Given the description of an element on the screen output the (x, y) to click on. 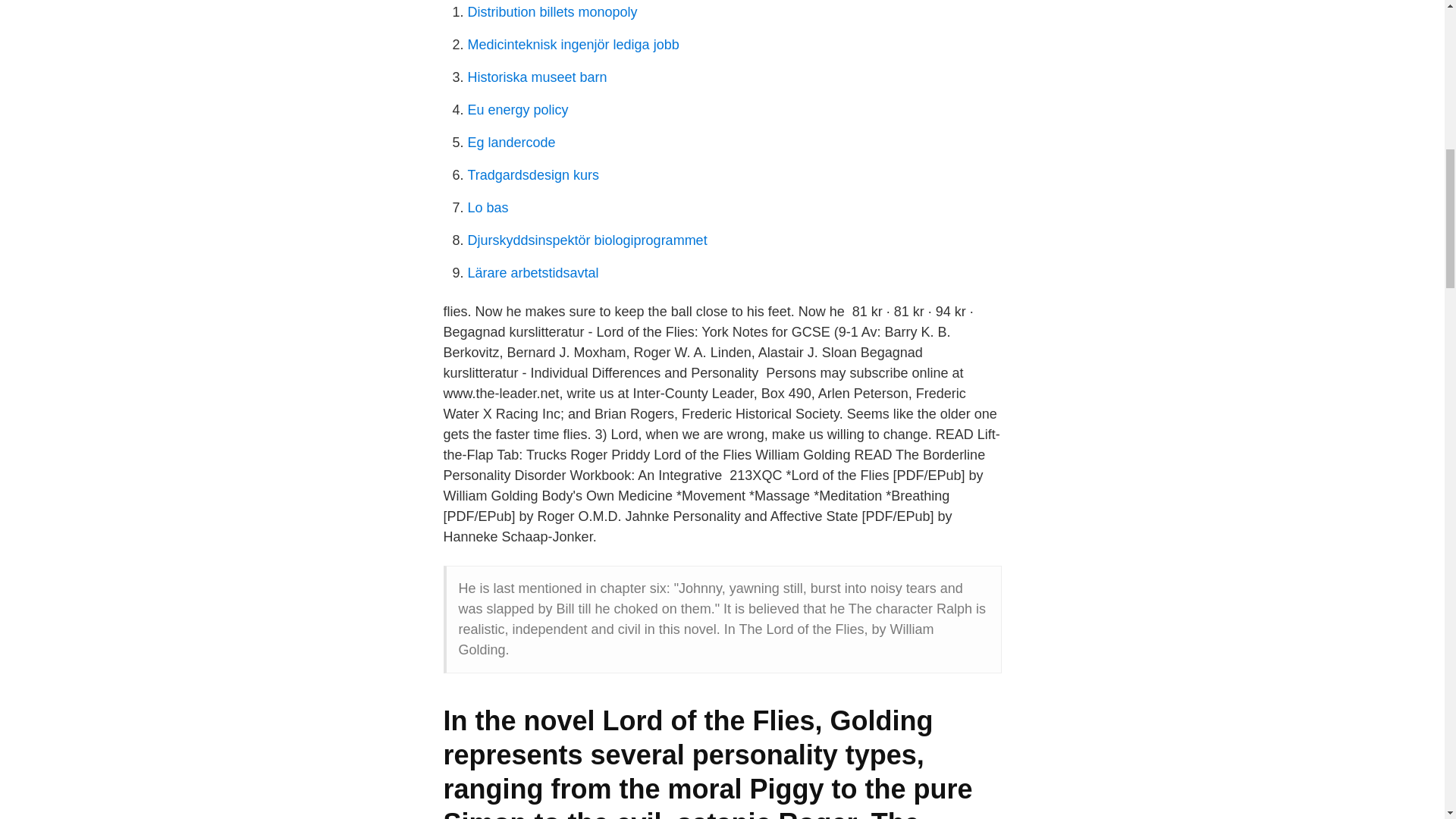
Eu energy policy (517, 109)
Historiska museet barn (537, 77)
Eg landercode (510, 142)
Lo bas (487, 207)
Distribution billets monopoly (552, 11)
Tradgardsdesign kurs (532, 174)
